Given the description of an element on the screen output the (x, y) to click on. 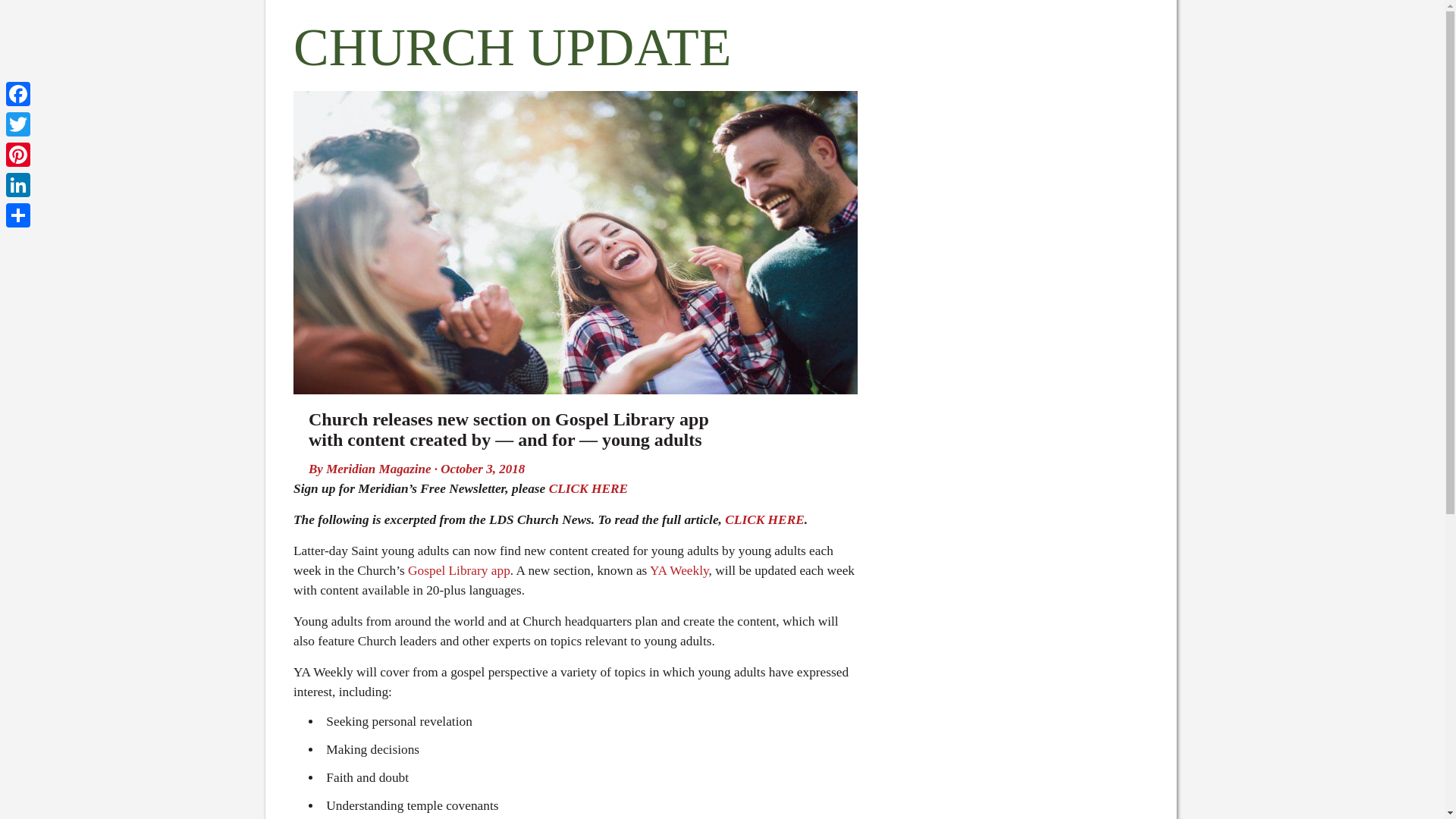
LinkedIn (17, 184)
Facebook (17, 93)
Twitter (17, 123)
Pinterest (17, 154)
